Given the description of an element on the screen output the (x, y) to click on. 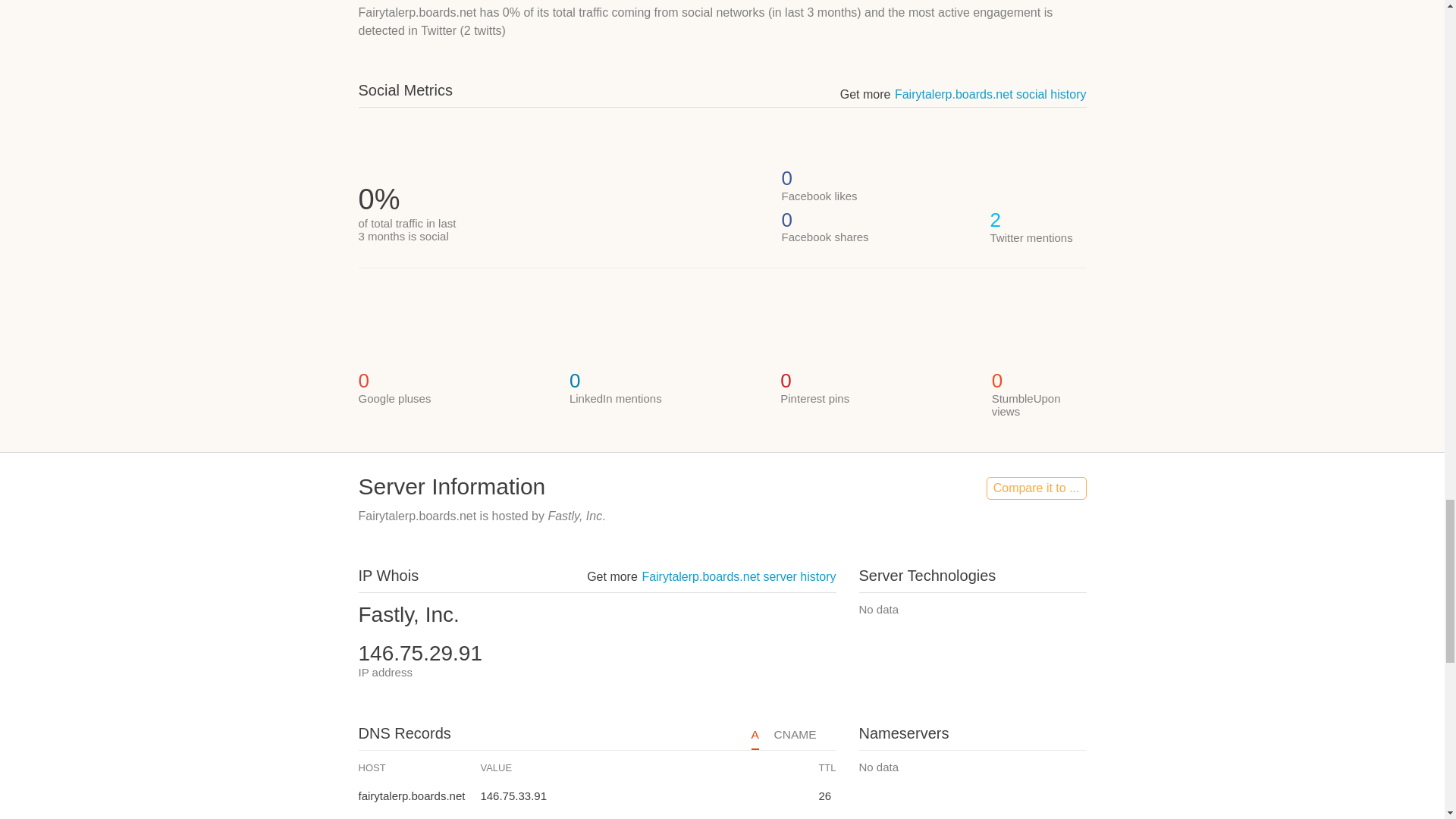
Fairytalerp.boards.net social history (990, 93)
Compare it to ... (1036, 487)
Fairytalerp.boards.net server history (738, 576)
